Given the description of an element on the screen output the (x, y) to click on. 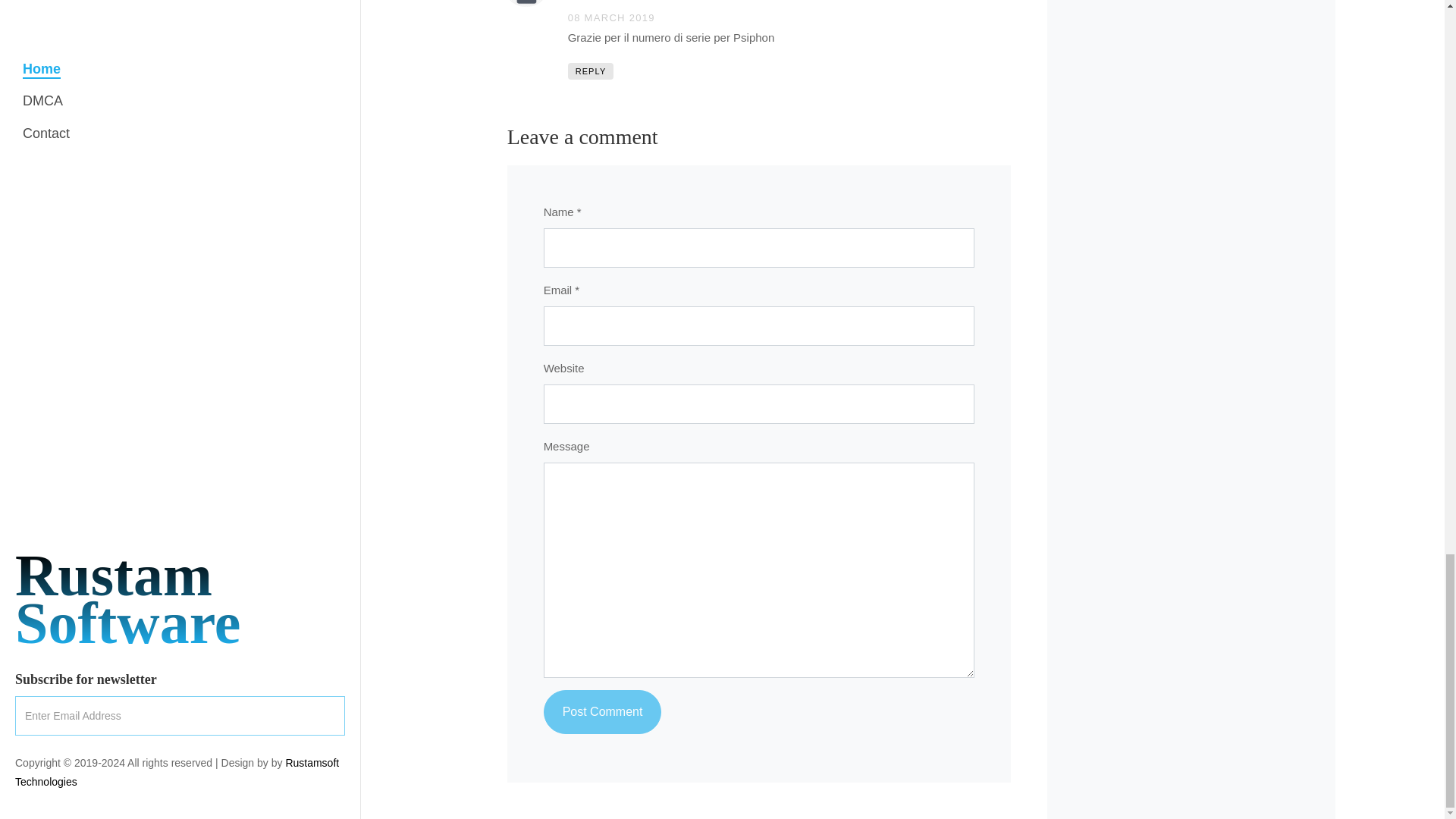
REPLY (590, 71)
Post Comment (602, 711)
Post Comment (602, 711)
